Given the description of an element on the screen output the (x, y) to click on. 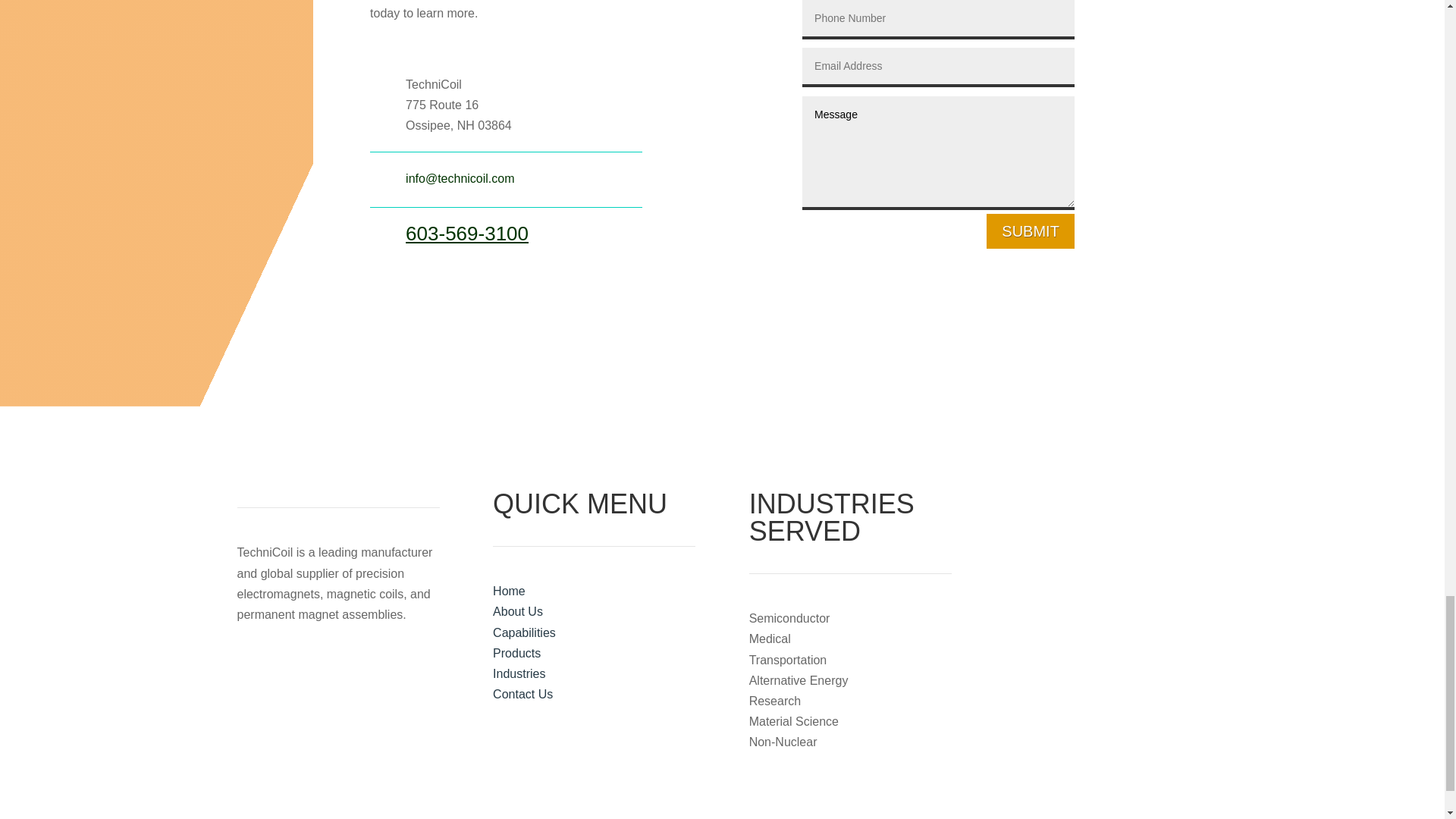
SUBMIT (1030, 230)
Contact Us (523, 694)
About Us (518, 611)
Capabilities (524, 632)
Home (509, 590)
603-569-3100 (467, 232)
Industries (518, 673)
Products (516, 653)
